Given the description of an element on the screen output the (x, y) to click on. 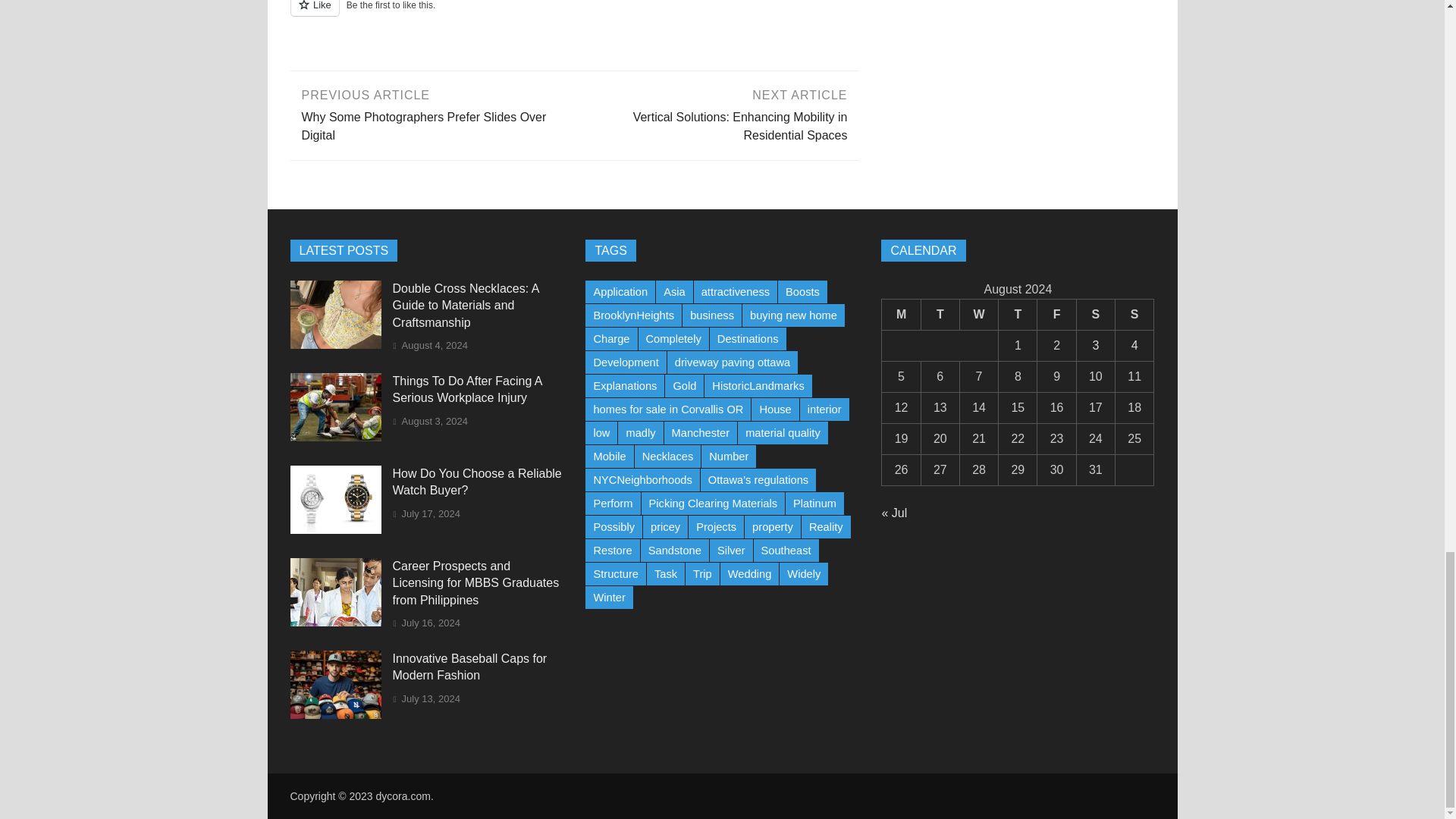
Monday (901, 314)
Thursday (1017, 314)
Things To Do After Facing A Serious Workplace Injury (334, 436)
Like or Reblog (574, 17)
Friday (1055, 314)
Innovative Baseball Caps for Modern Fashion (334, 714)
How Do You Choose a Reliable Watch Buyer? (334, 529)
